Given the description of an element on the screen output the (x, y) to click on. 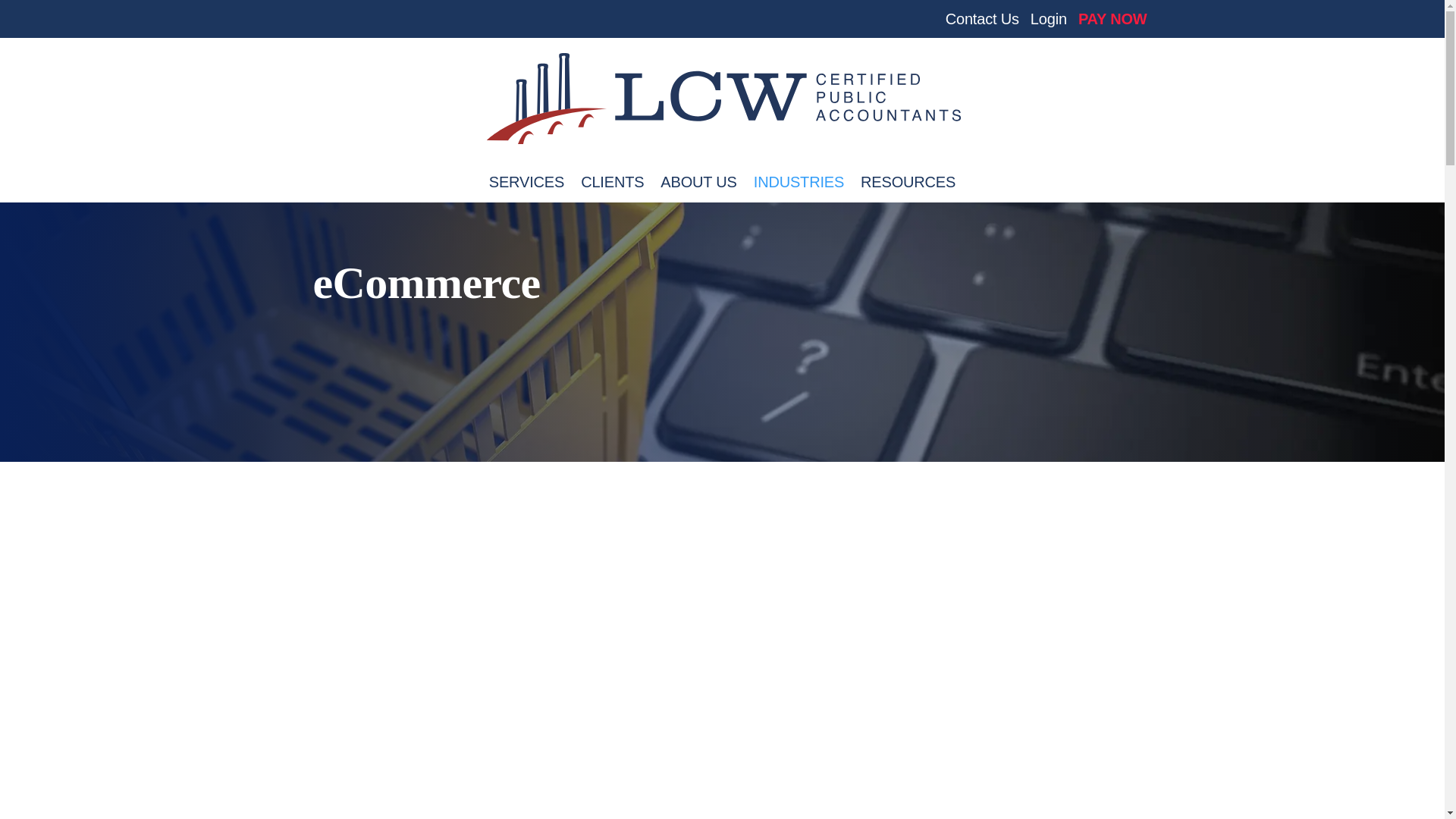
CLIENTS (611, 189)
PAY NOW (1112, 24)
ABOUT US (698, 189)
Login (1048, 24)
INDUSTRIES (799, 189)
SERVICES (526, 189)
Contact Us (981, 24)
